Given the description of an element on the screen output the (x, y) to click on. 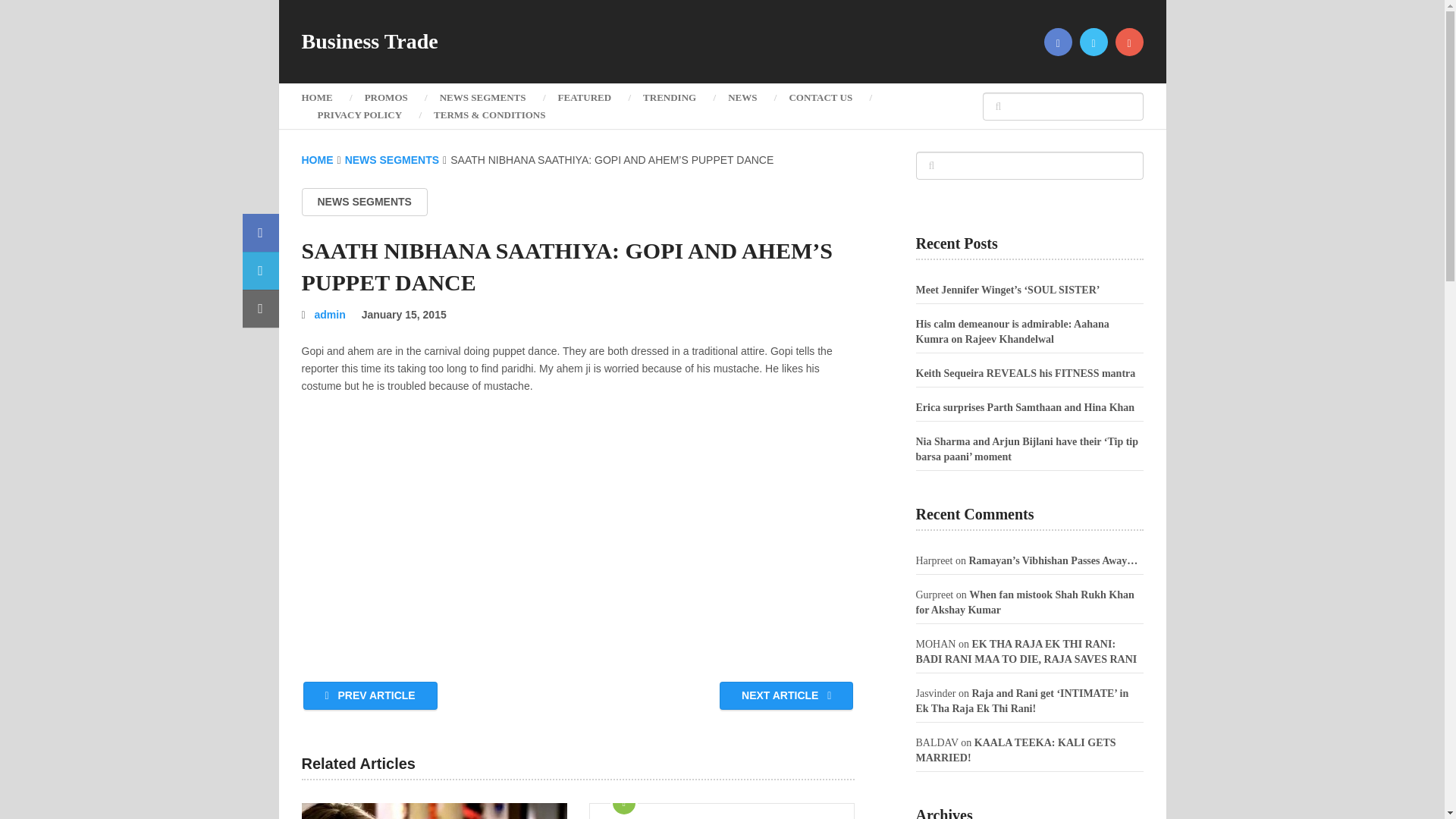
NEWS SEGMENTS (392, 159)
Business Trade (369, 41)
HOME (317, 159)
NEWS (742, 97)
Keith Sequeira REVEALS his FITNESS mantra (1025, 373)
PREV ARTICLE (370, 695)
TRENDING (669, 97)
FEATURED (584, 97)
PRIVACY POLICY (360, 114)
View all posts in News Segments (364, 202)
HOME (325, 97)
When fan mistook Shah Rukh Khan for Akshay Kumar (1024, 601)
admin (330, 314)
NEWS SEGMENTS (482, 97)
